Given the description of an element on the screen output the (x, y) to click on. 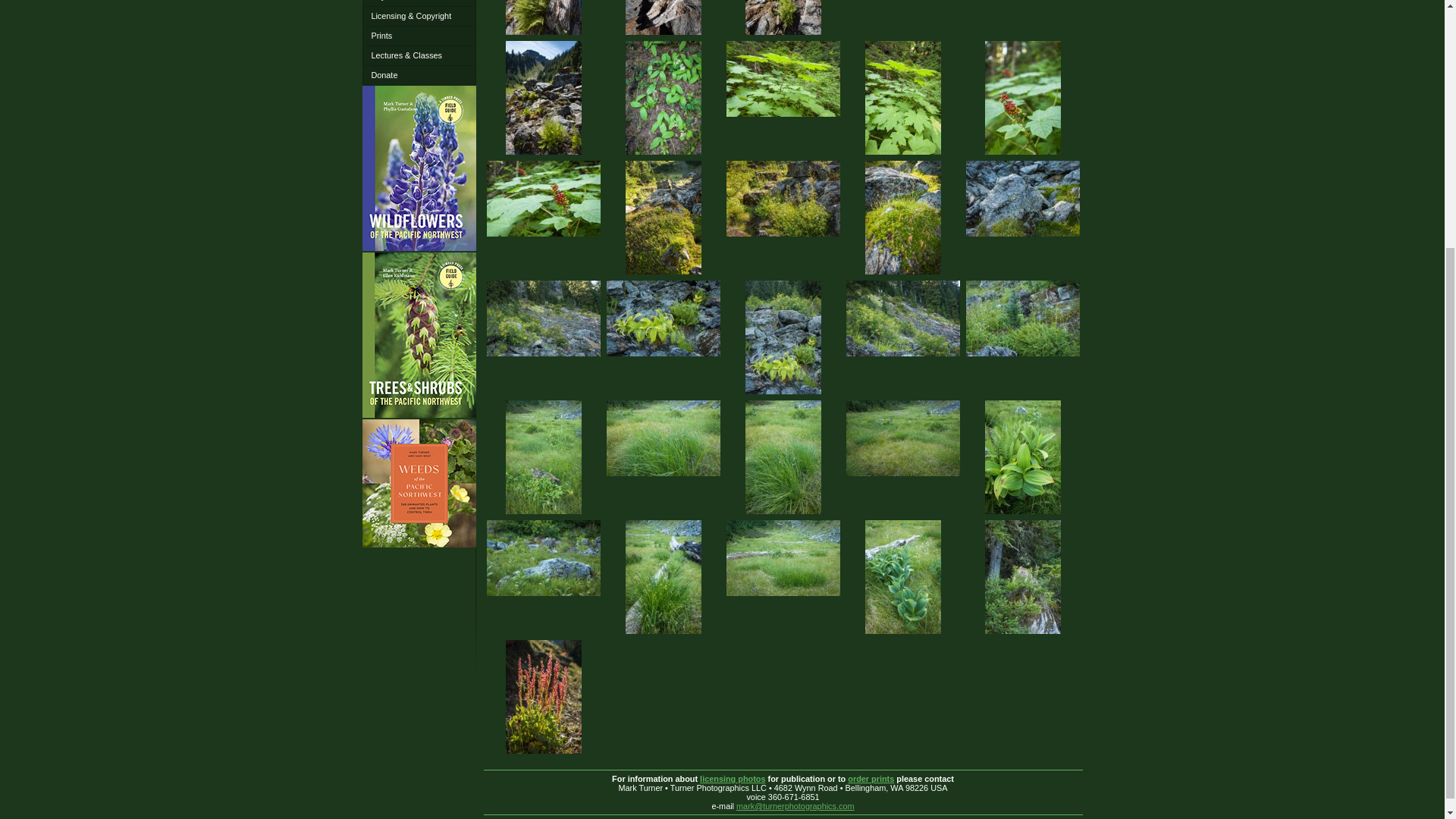
Decaying log on talus (662, 18)
American Parsley Ferns on talus slope (782, 18)
Devil's Club fruit (543, 198)
